Given the description of an element on the screen output the (x, y) to click on. 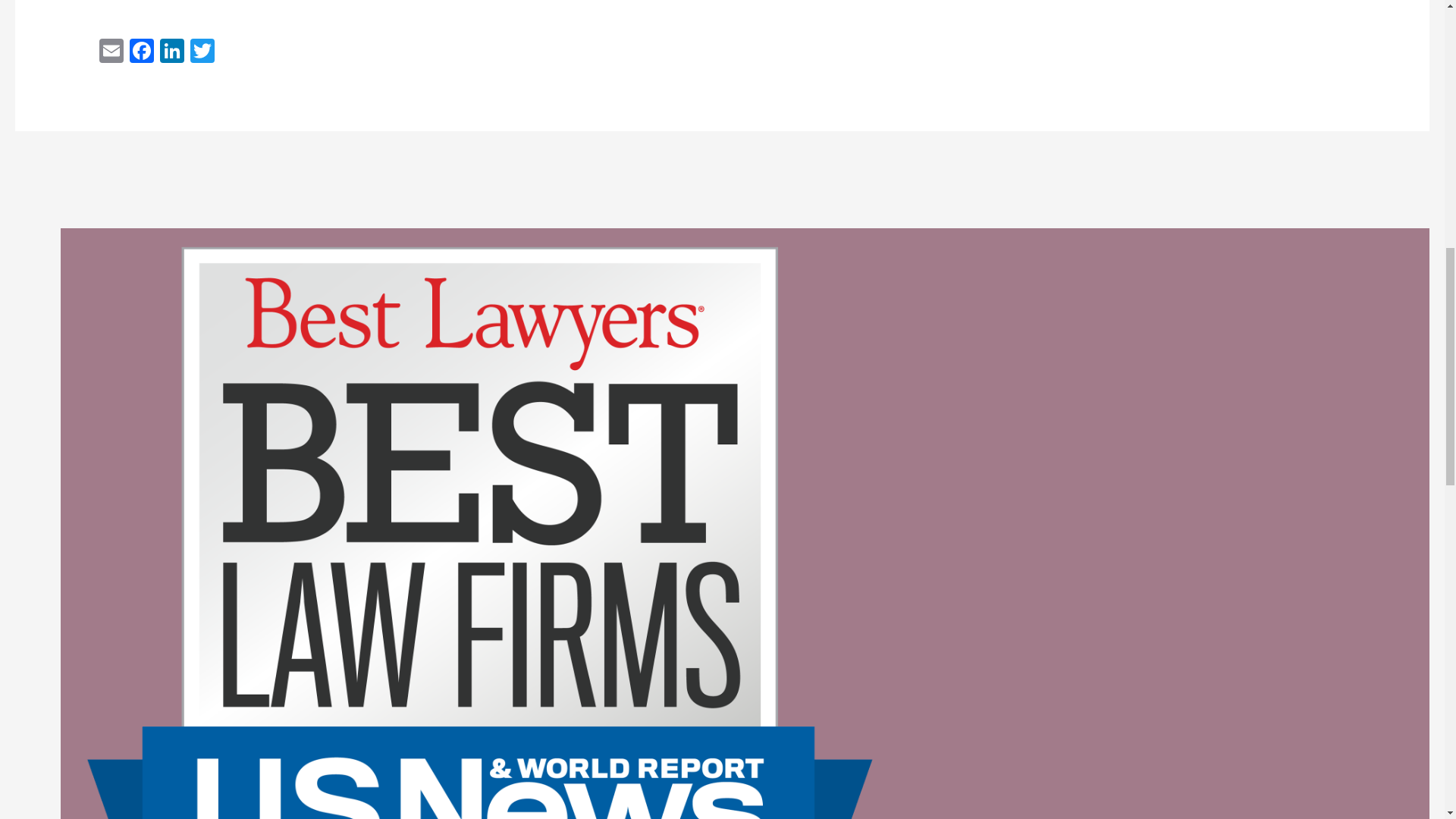
Email (111, 52)
LinkedIn (172, 52)
Twitter (201, 52)
Facebook (141, 52)
